Given the description of an element on the screen output the (x, y) to click on. 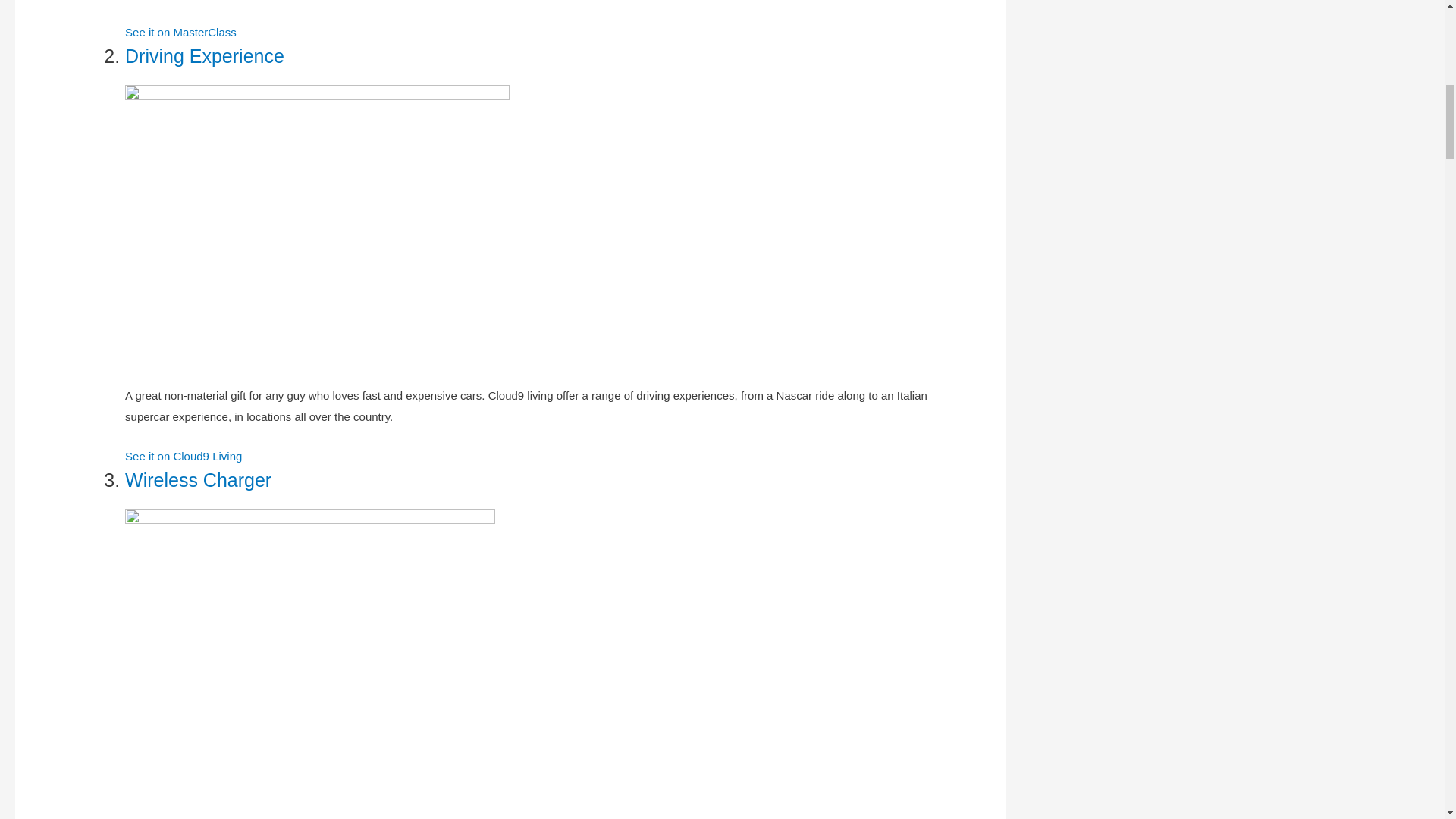
Driving Experience (204, 55)
See it on Cloud9 Living (183, 455)
See it on MasterClass (180, 31)
Wireless Charger (197, 479)
